Given the description of an element on the screen output the (x, y) to click on. 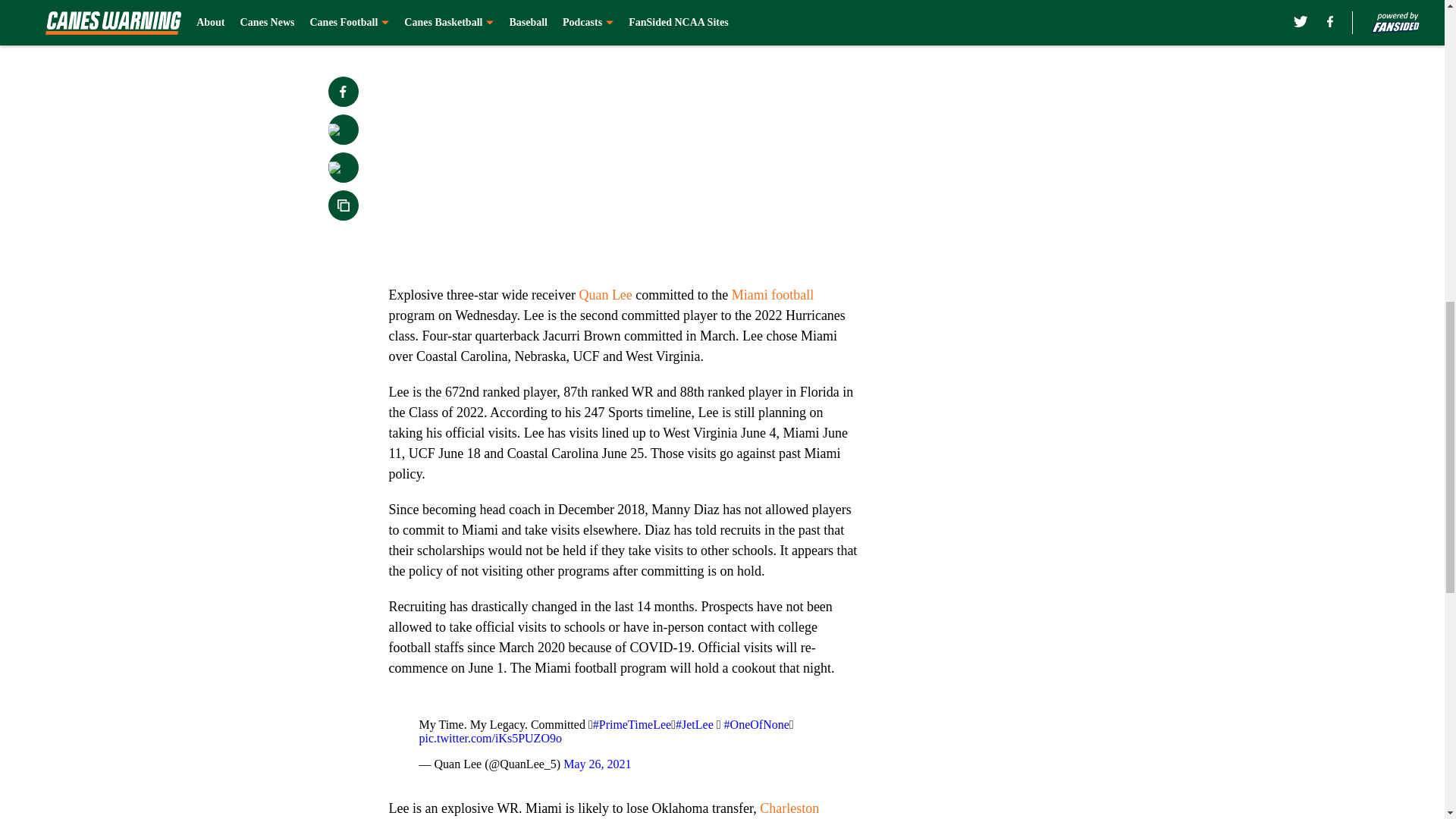
Charleston Rambo (603, 809)
Quan Lee (604, 294)
Miami football (772, 294)
May 26, 2021 (596, 763)
